Given the description of an element on the screen output the (x, y) to click on. 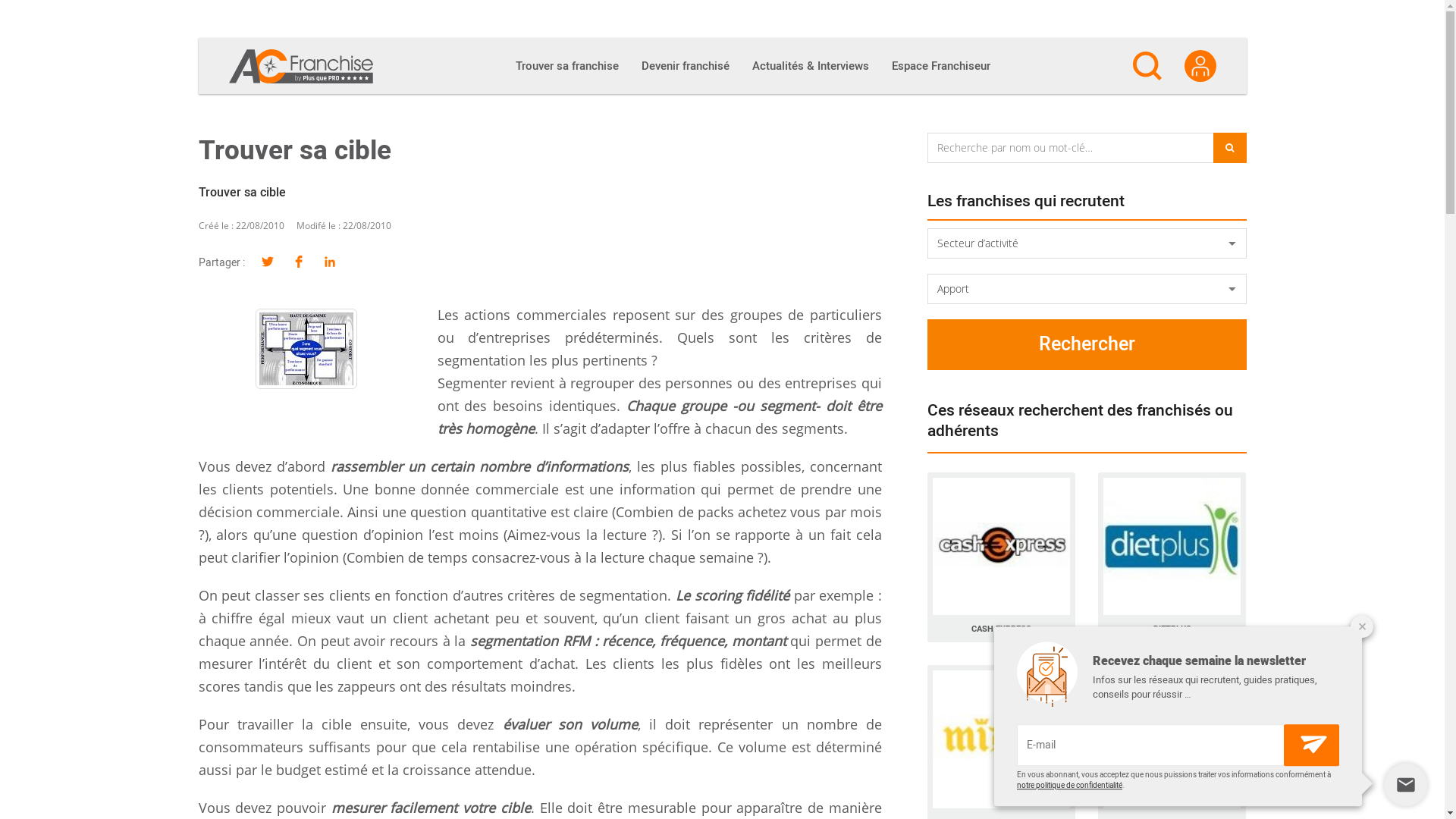
Share on LinkedIn Element type: hover (329, 262)
Rechercher Element type: text (1086, 344)
Espace Franchiseur Element type: text (940, 65)
  Element type: hover (306, 348)
Trouver sa franchise Element type: text (566, 65)
Share on Facebook Element type: hover (298, 262)
Share on Twitter Element type: hover (266, 262)
